Given the description of an element on the screen output the (x, y) to click on. 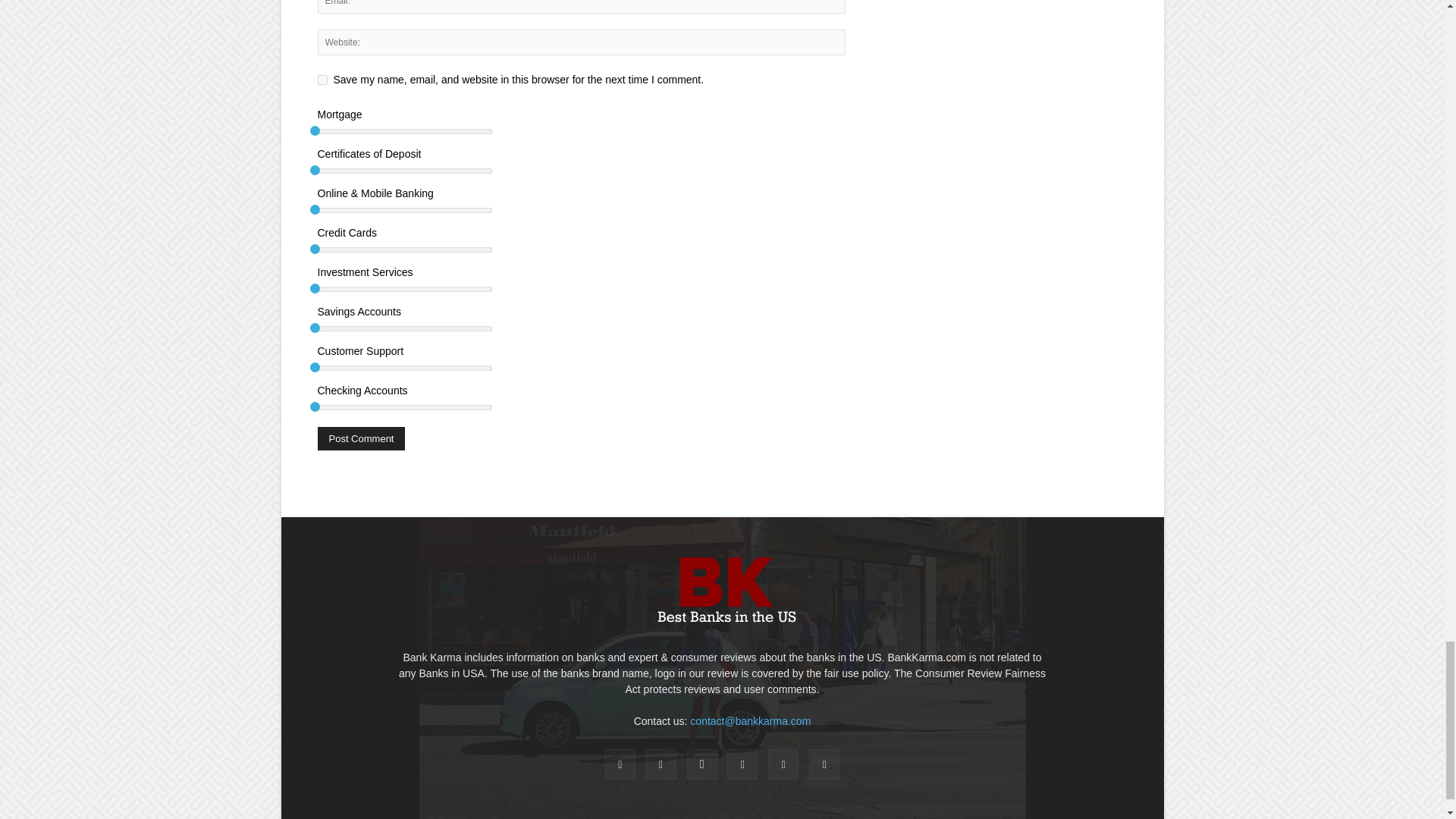
Post Comment (360, 438)
yes (321, 80)
